Given the description of an element on the screen output the (x, y) to click on. 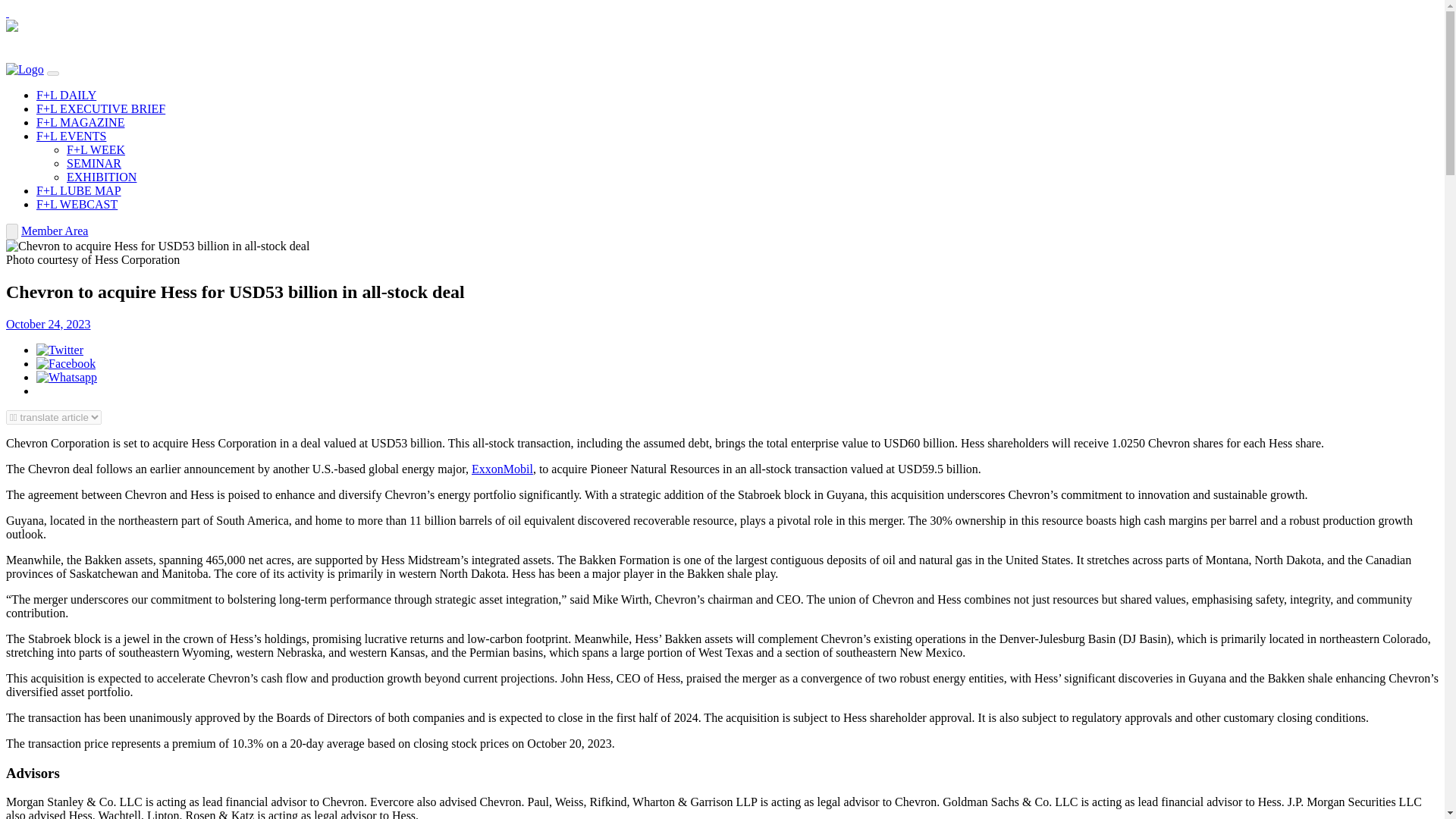
October 24, 2023 (47, 323)
ExxonMobil (501, 468)
SEMINAR (93, 163)
EXHIBITION (101, 176)
Member Area (54, 230)
